Given the description of an element on the screen output the (x, y) to click on. 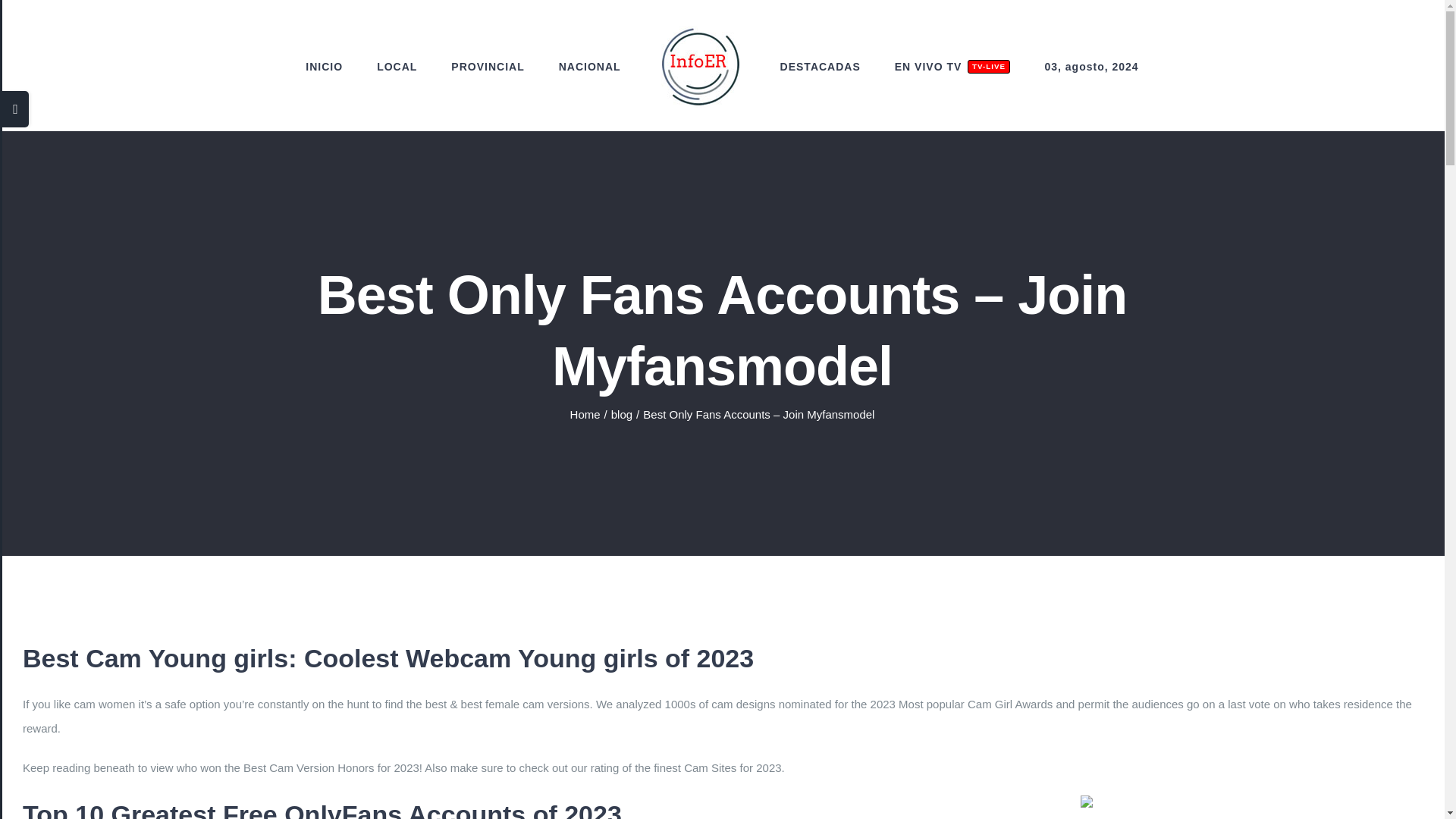
03, agosto, 2024 (1090, 66)
DESTACADAS (952, 66)
PROVINCIAL (820, 66)
blog (487, 66)
Home (621, 413)
NACIONAL (584, 413)
